Given the description of an element on the screen output the (x, y) to click on. 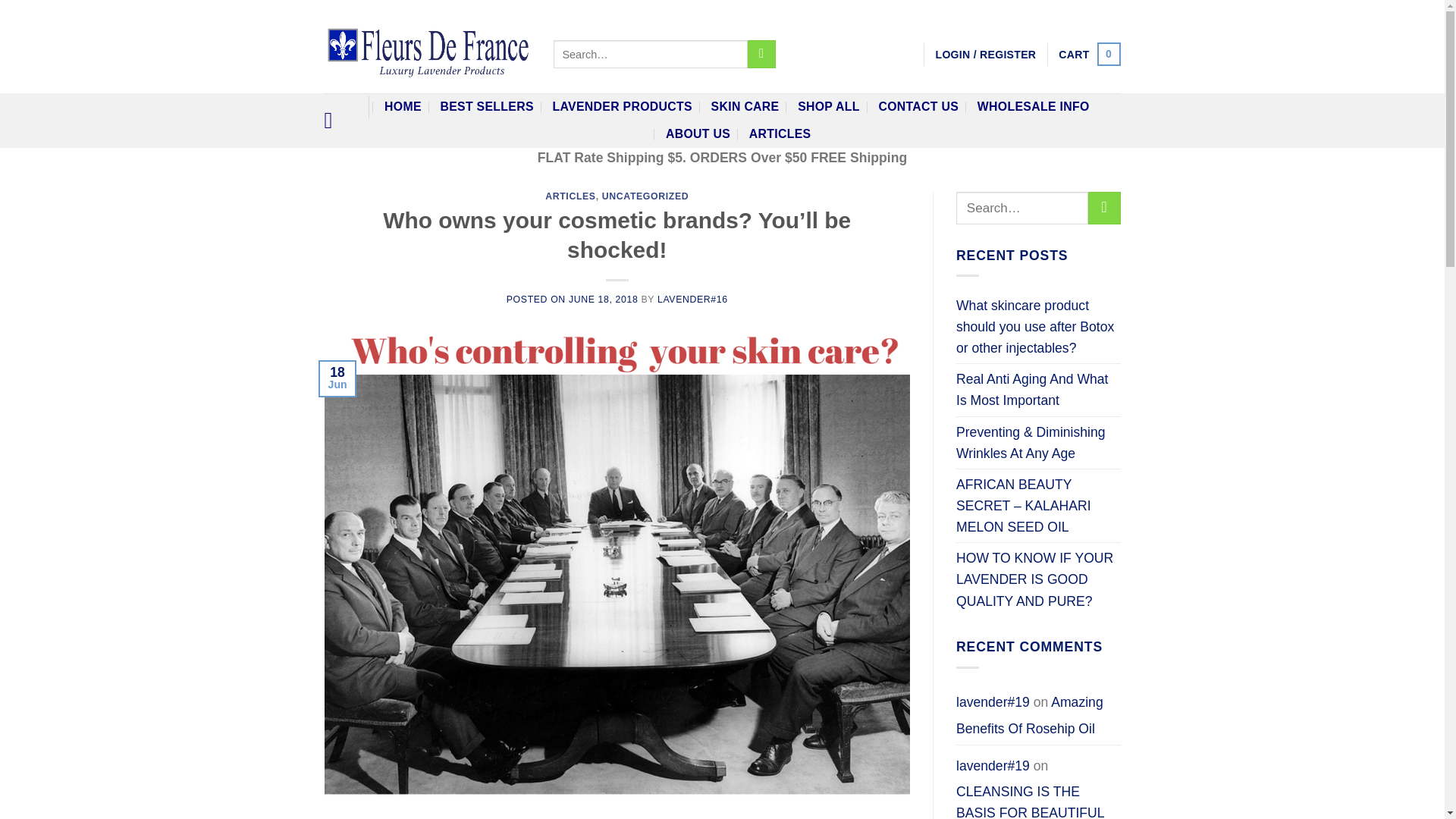
BEST SELLERS (485, 106)
ABOUT US (1088, 53)
Amazing Benefits Of Rosehip Oil (697, 134)
JUNE 18, 2018 (1029, 715)
ARTICLES (604, 299)
HOME (569, 195)
Cart (403, 106)
Search (1088, 53)
Real Anti Aging And What Is Most Important (761, 53)
